Given the description of an element on the screen output the (x, y) to click on. 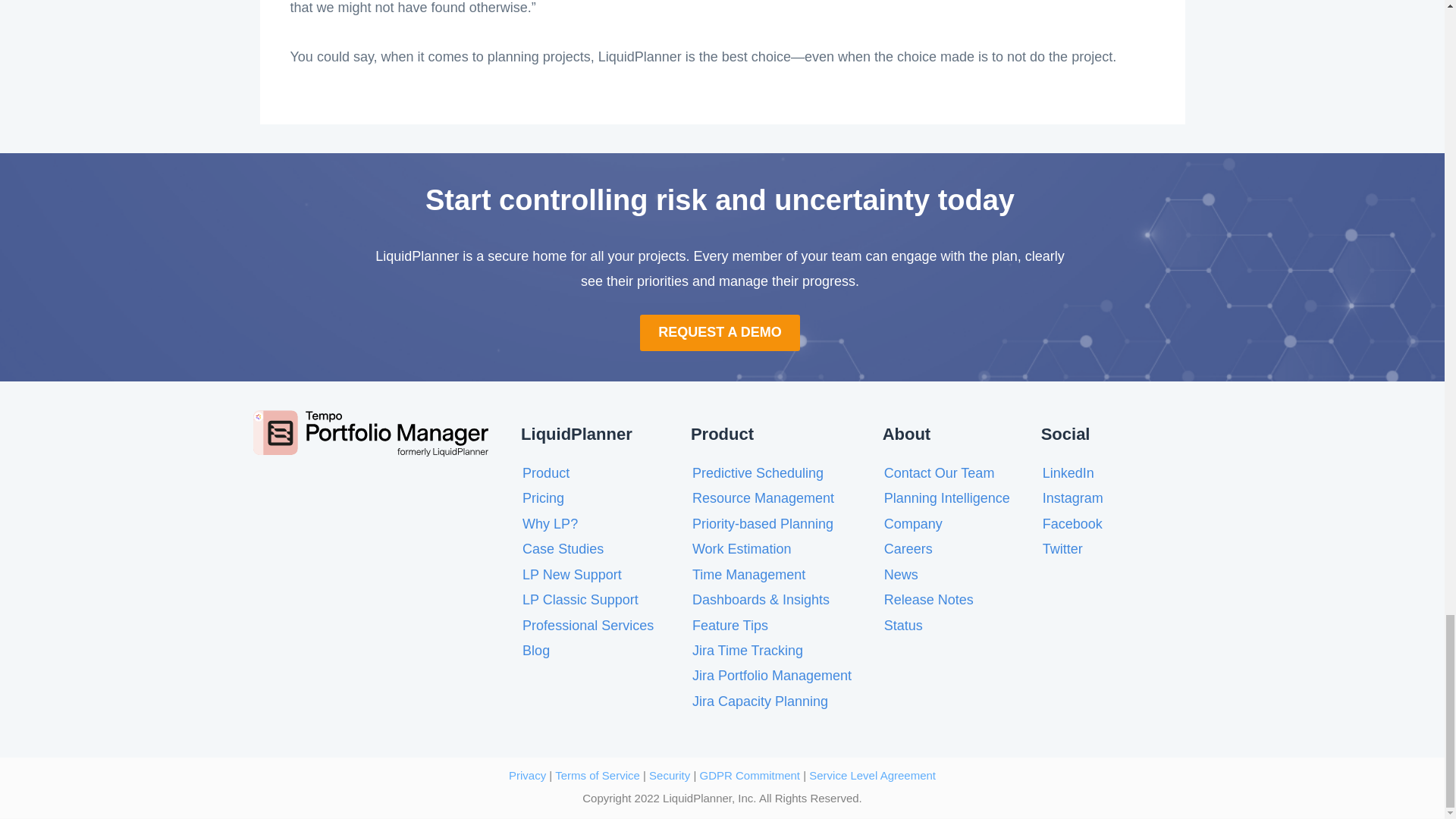
Jira Capacity Planning (760, 701)
Why LP? (550, 523)
LP New Support (571, 574)
Professional Services (587, 625)
Jira Portfolio Management (772, 675)
Case Studies (563, 548)
LP Classic Support (580, 599)
REQUEST A DEMO (719, 332)
Priority-based Planning (762, 523)
Predictive Scheduling (758, 473)
Pricing (543, 498)
Time Management (749, 574)
Product (545, 473)
Work Estimation (742, 548)
Jira Time Tracking (748, 650)
